Given the description of an element on the screen output the (x, y) to click on. 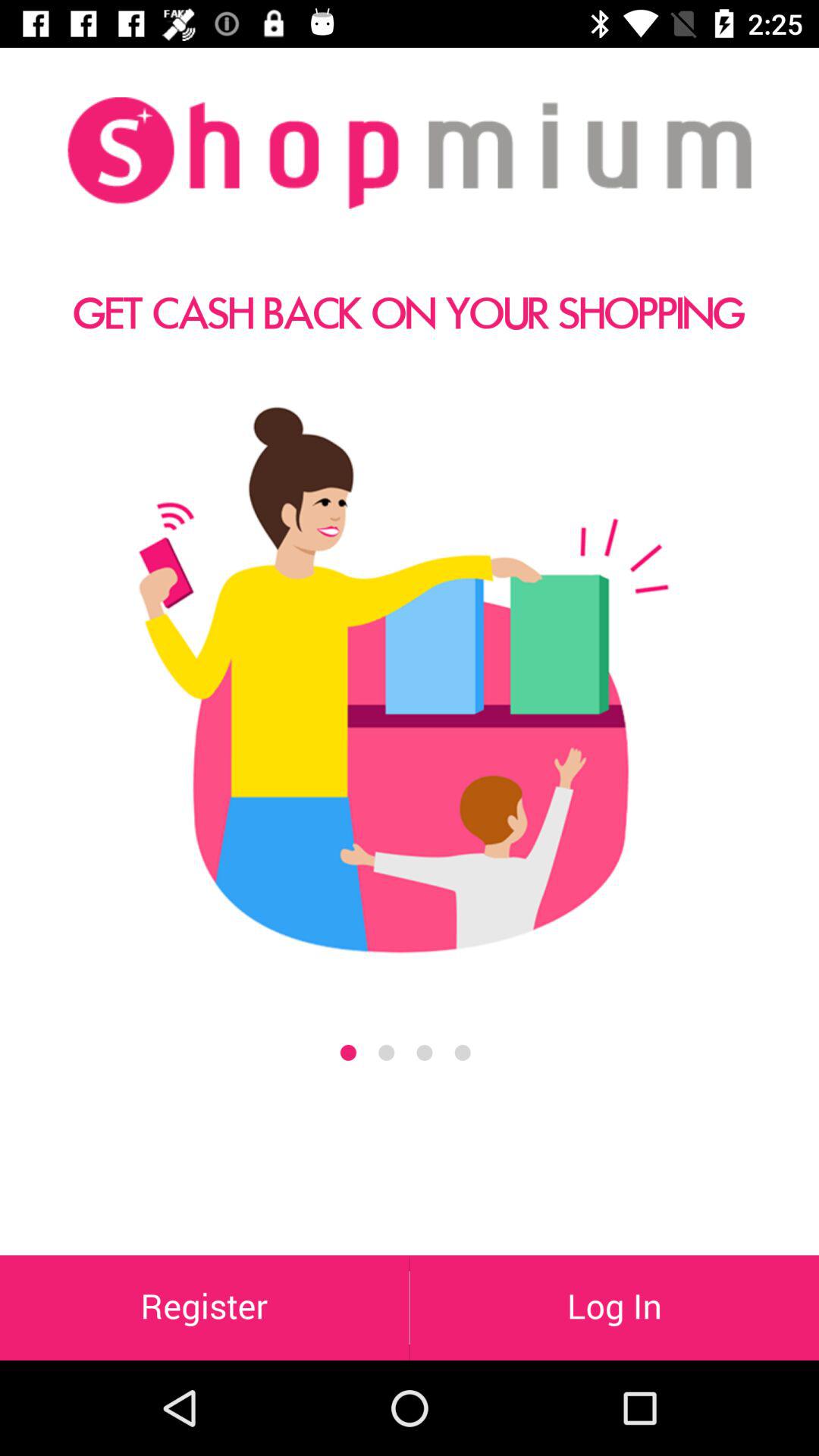
click the item at the bottom left corner (204, 1307)
